Given the description of an element on the screen output the (x, y) to click on. 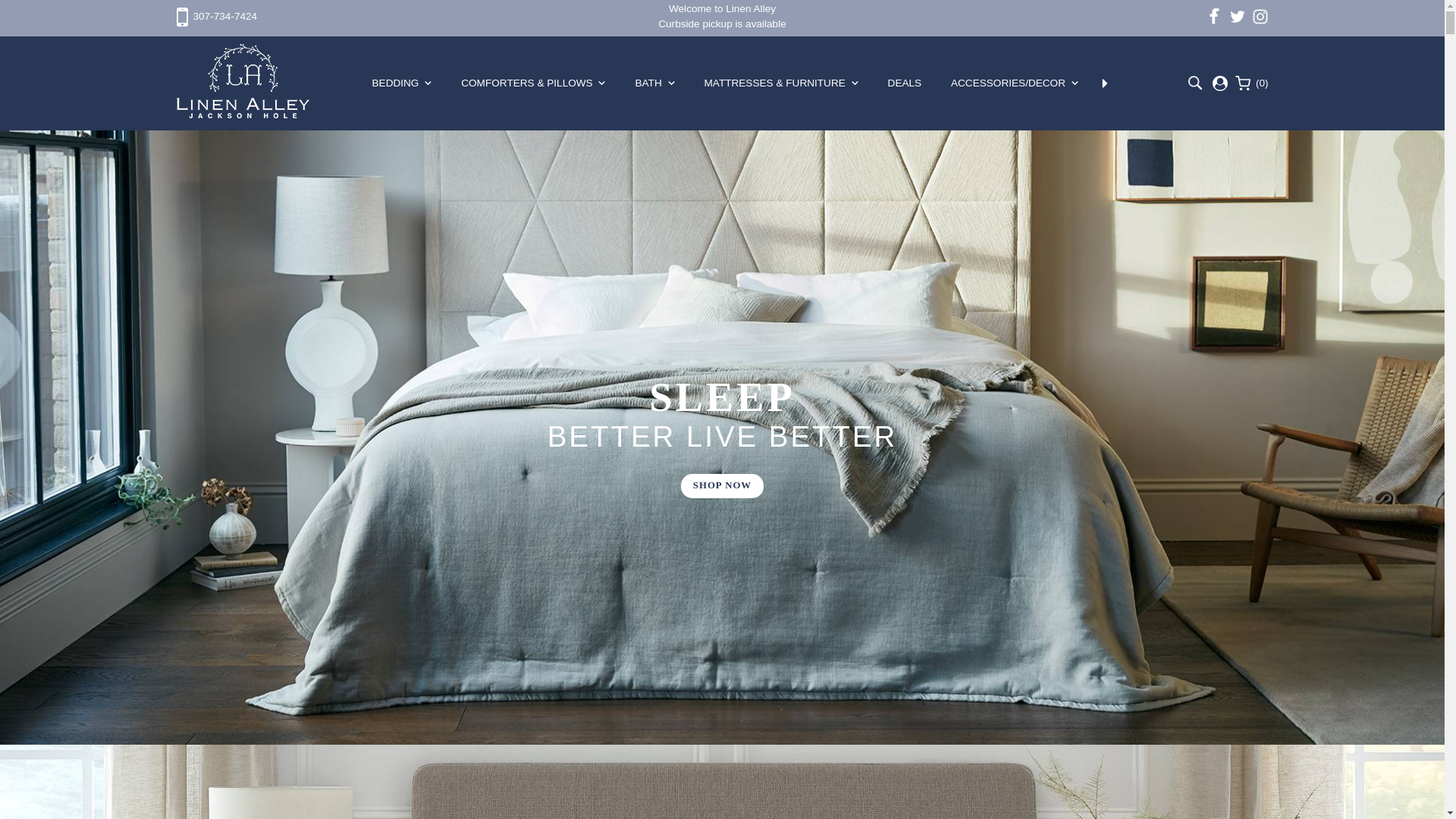
Search (1195, 82)
My Account (1219, 83)
BEDDING  (401, 83)
DEALS  (905, 83)
307-734-7424 (216, 17)
More (1104, 83)
BATH  (655, 83)
My cart (1251, 83)
